Given the description of an element on the screen output the (x, y) to click on. 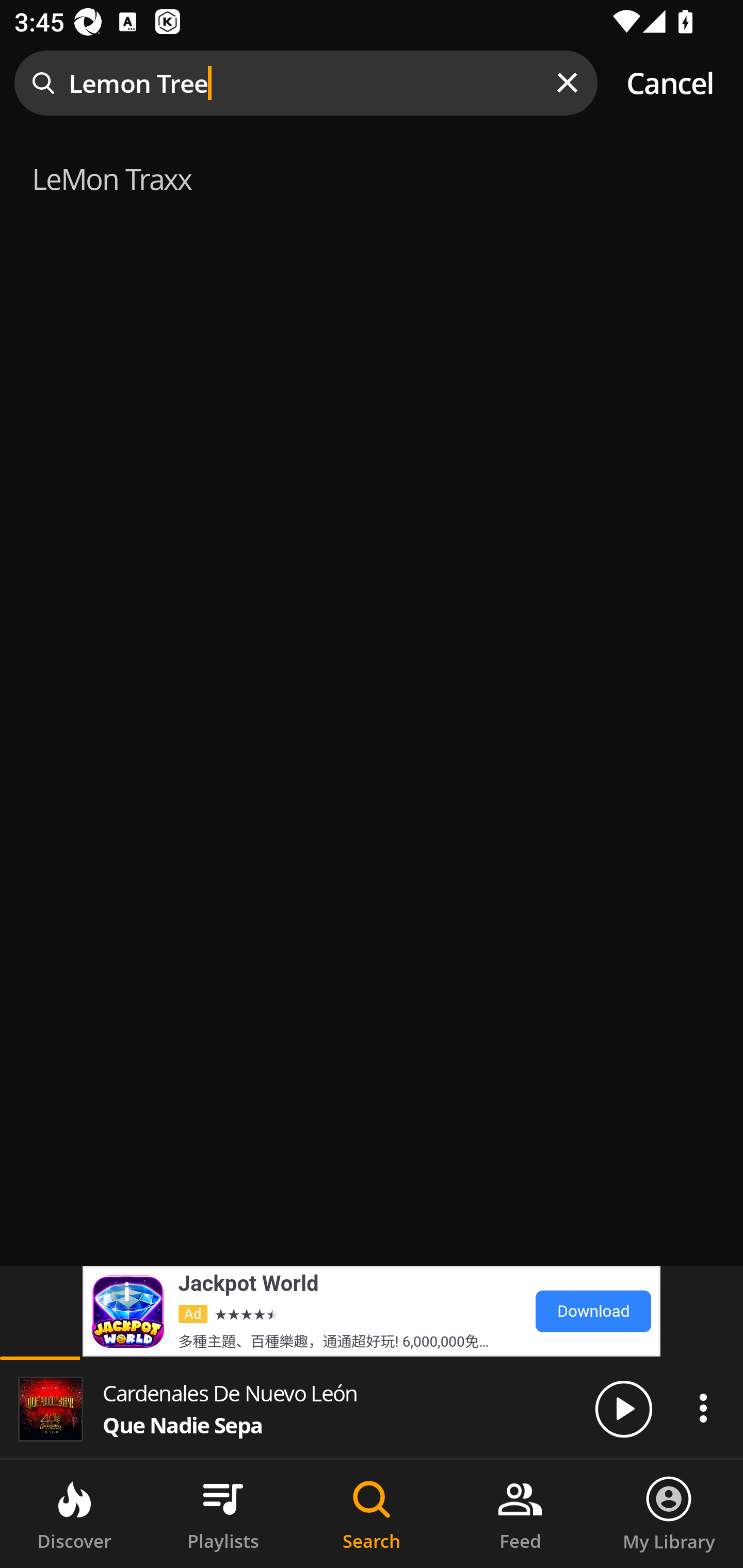
Lemon Tree Cancel (371, 82)
Cancel (670, 82)
LeMon Traxx (371, 176)
Actions (703, 1407)
Play/Pause (623, 1408)
Discover (74, 1513)
Playlists (222, 1513)
Search (371, 1513)
Feed (519, 1513)
My Library (668, 1513)
